Given the description of an element on the screen output the (x, y) to click on. 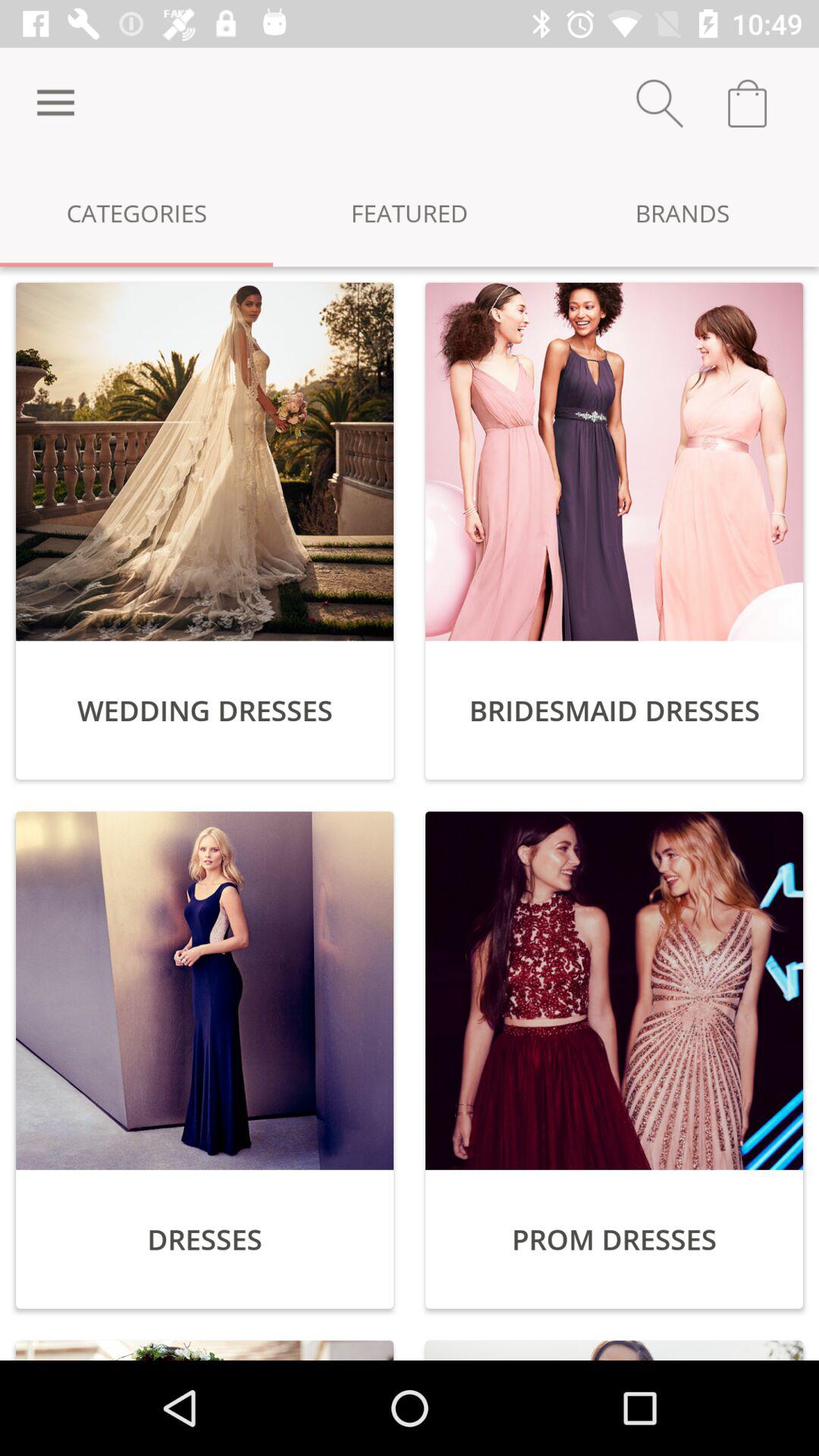
click the featured icon (409, 212)
